Given the description of an element on the screen output the (x, y) to click on. 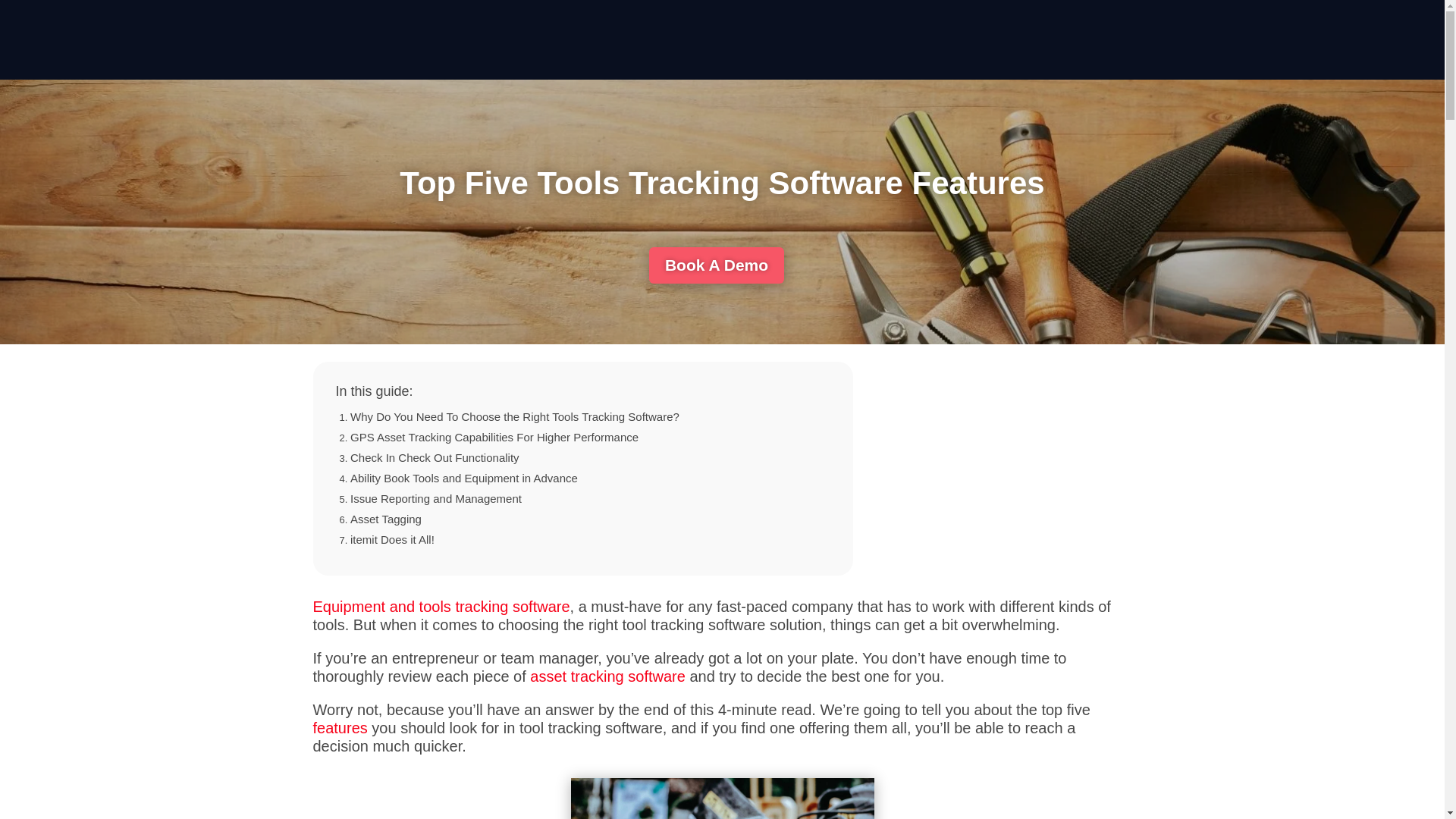
Top Five Tools Tracking Software Feature (721, 798)
itemit Does it All! (391, 539)
GPS Asset Tracking Capabilities For Higher Performance (494, 436)
Check In Check Out Functionality (434, 457)
Issue Reporting and Management (435, 498)
Ability Book Tools and Equipment in Advance (464, 477)
Book A Demo (716, 265)
Why Do You Need To Choose the Right Tools Tracking Software? (514, 416)
Asset Tagging (386, 518)
